Given the description of an element on the screen output the (x, y) to click on. 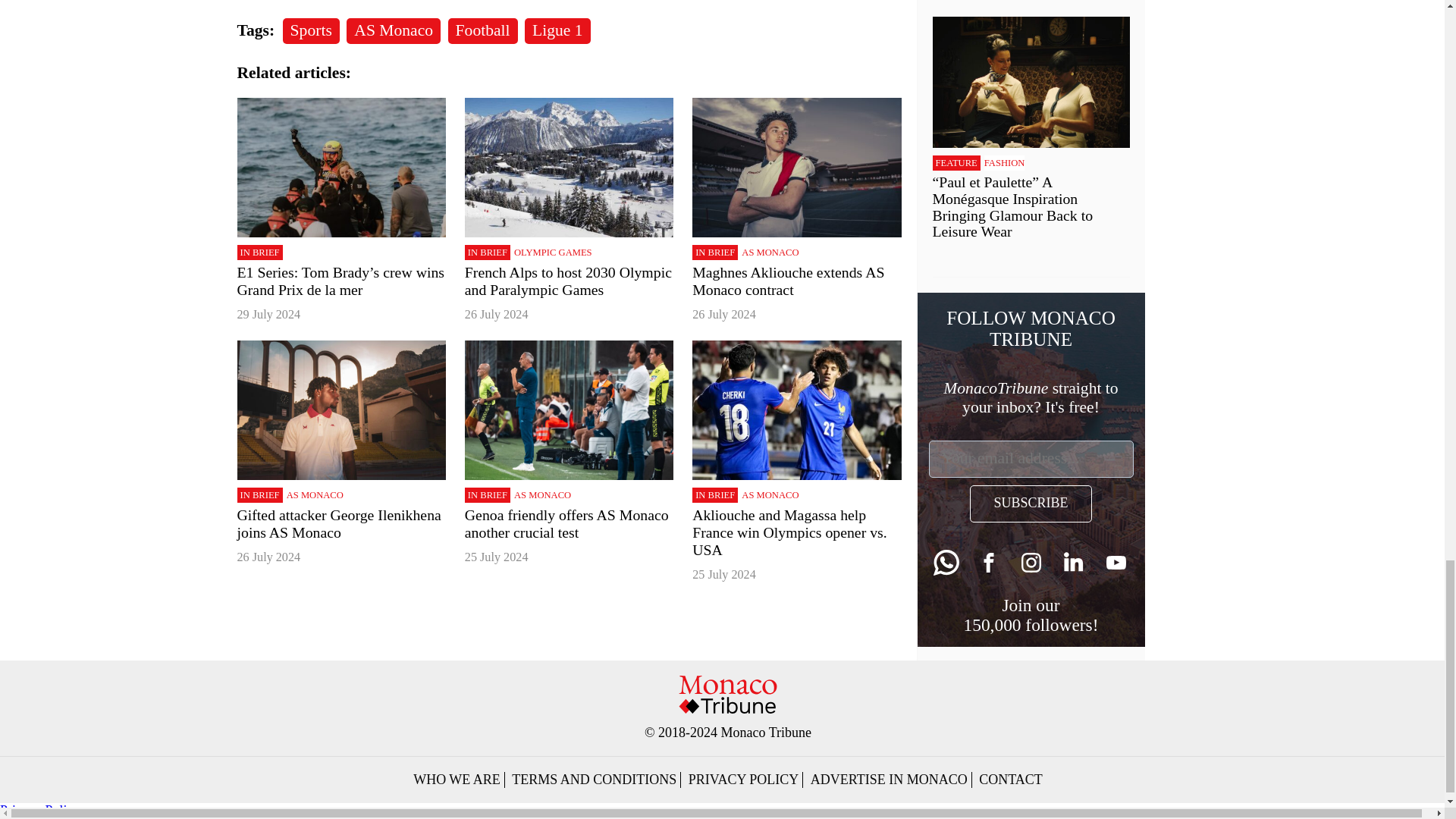
Subscribe (1029, 503)
